Given the description of an element on the screen output the (x, y) to click on. 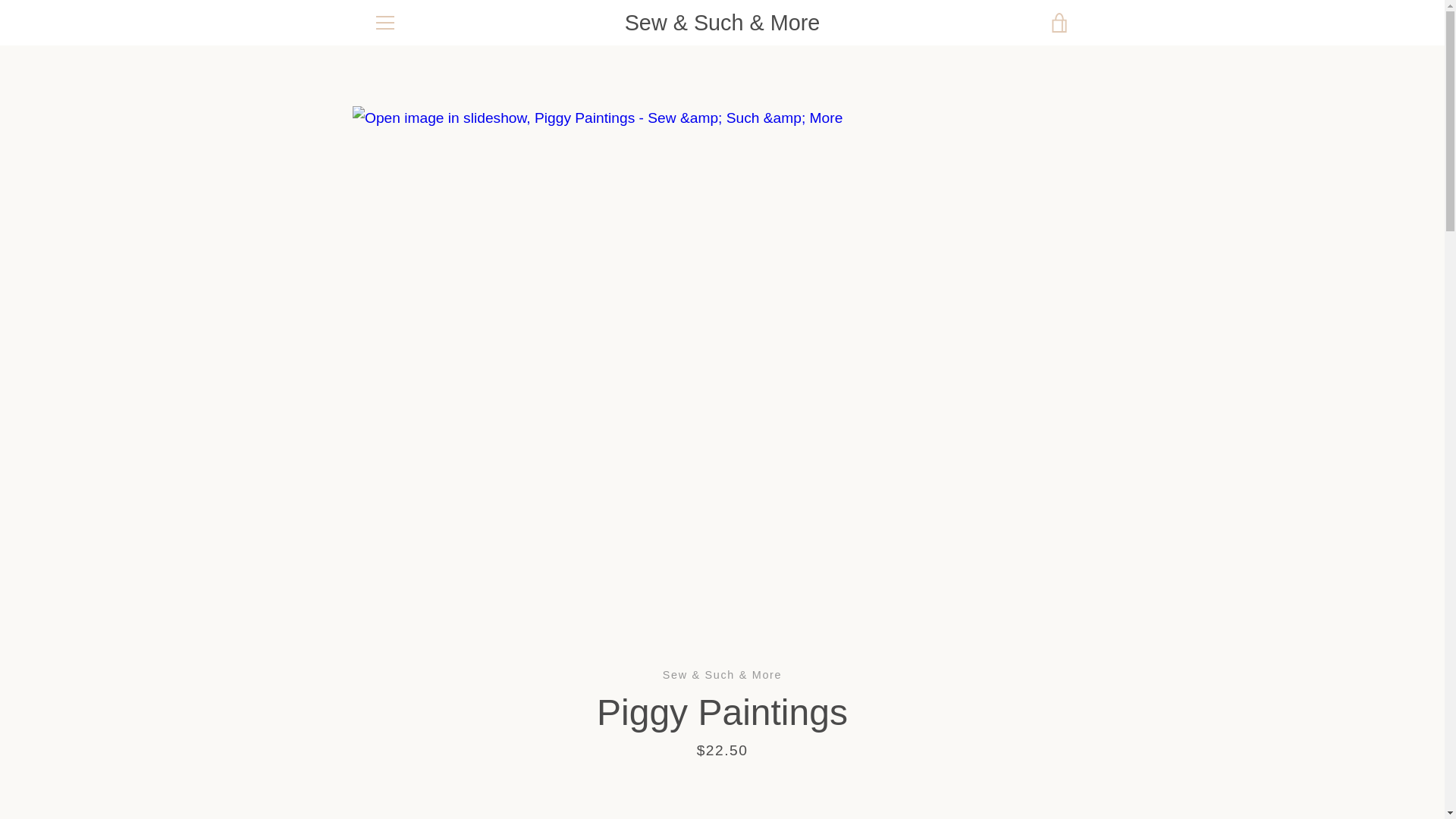
Diners Club (953, 754)
HOME (577, 448)
Apple Pay (918, 754)
Visa (1057, 778)
Google Pay (1022, 754)
Mastercard (1057, 754)
ETSY STORE (410, 448)
MENU (384, 22)
American Express (883, 754)
VIEW CART (1059, 22)
Shop Pay (1022, 778)
Discover (988, 754)
